Given the description of an element on the screen output the (x, y) to click on. 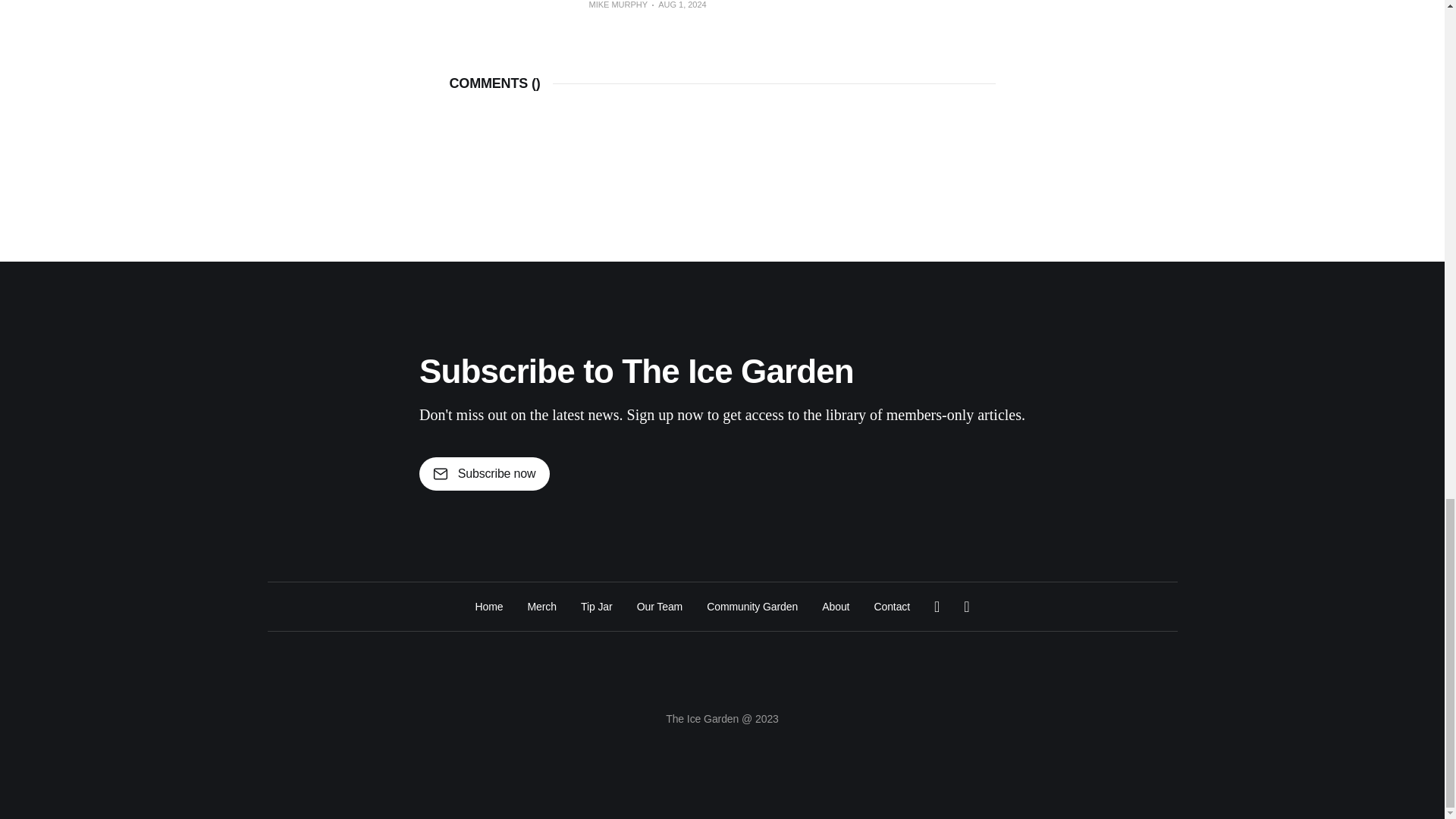
Merch (541, 606)
Home (488, 606)
Tip Jar (596, 606)
Community Garden (751, 606)
Our Team (659, 606)
Contact (891, 606)
Subscribe now (484, 473)
About (835, 606)
